Given the description of an element on the screen output the (x, y) to click on. 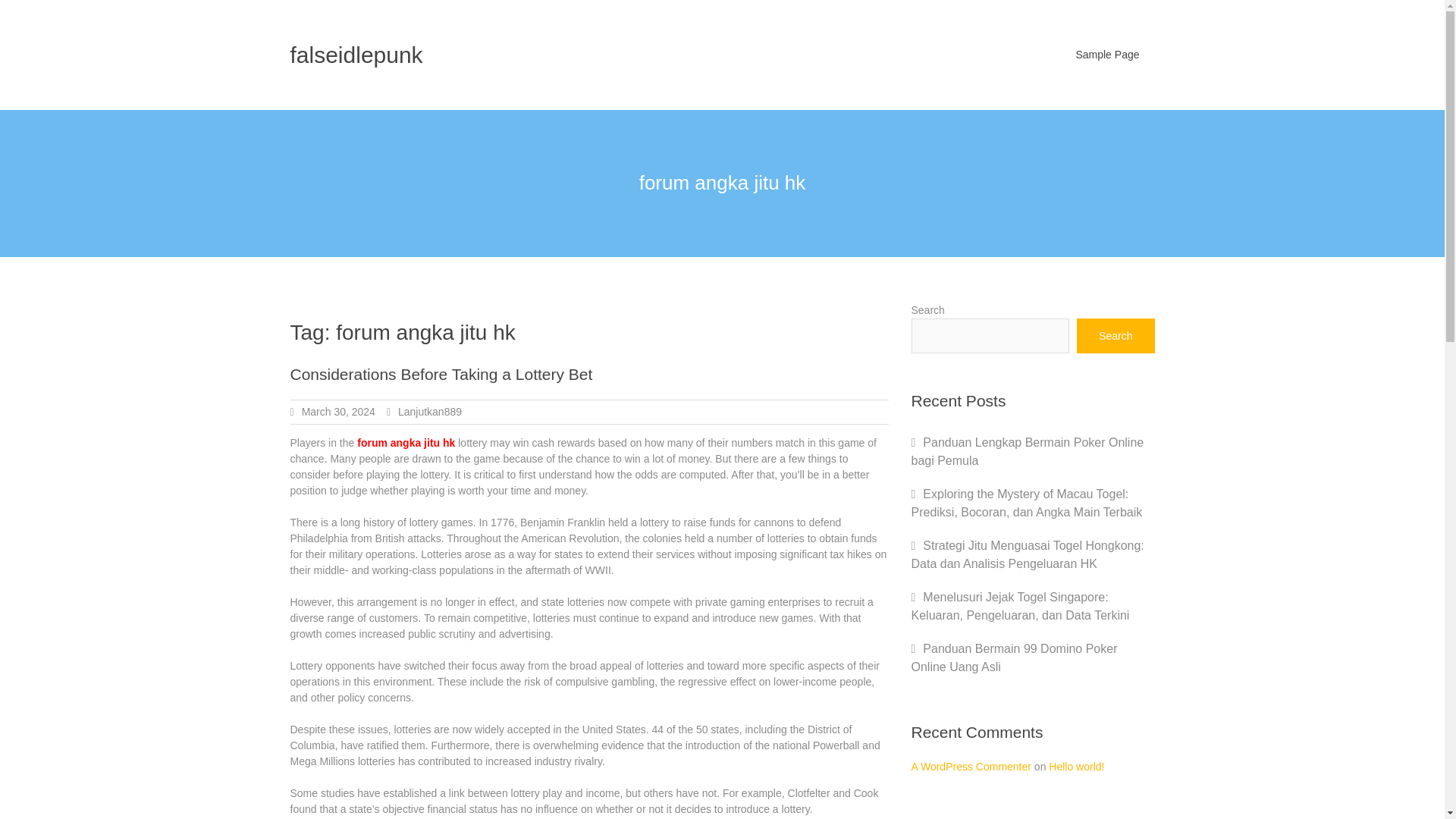
March 30, 2024 (338, 411)
Panduan Lengkap Bermain Poker Online bagi Pemula (1027, 450)
Considerations Before Taking a Lottery Bet (440, 374)
A WordPress Commenter (970, 766)
Hello world! (1075, 766)
falseidlepunk (355, 54)
Sample Page (1106, 55)
forum angka jitu hk (405, 442)
Panduan Bermain 99 Domino Poker Online Uang Asli (1014, 657)
Lanjutkan889 (429, 411)
Search (1115, 335)
